Given the description of an element on the screen output the (x, y) to click on. 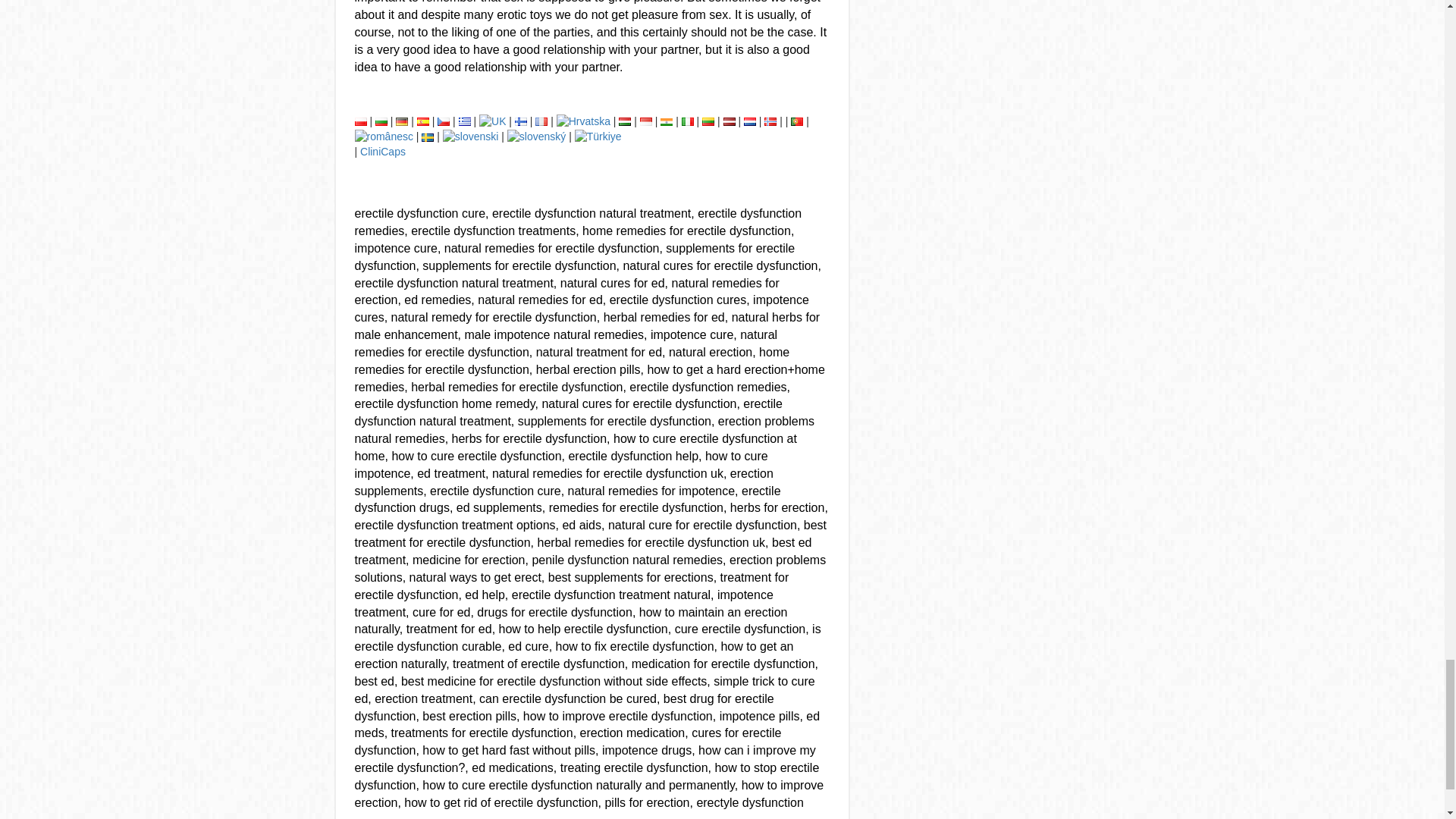
Indonesia (646, 121)
Hrvatska (583, 121)
suomalainen (521, 121)
magyar (624, 121)
UK (492, 121)
CliniCaps (382, 151)
deutsch (401, 121)
Lietuva (707, 121)
nederlands (749, 121)
italiano (687, 121)
